Given the description of an element on the screen output the (x, y) to click on. 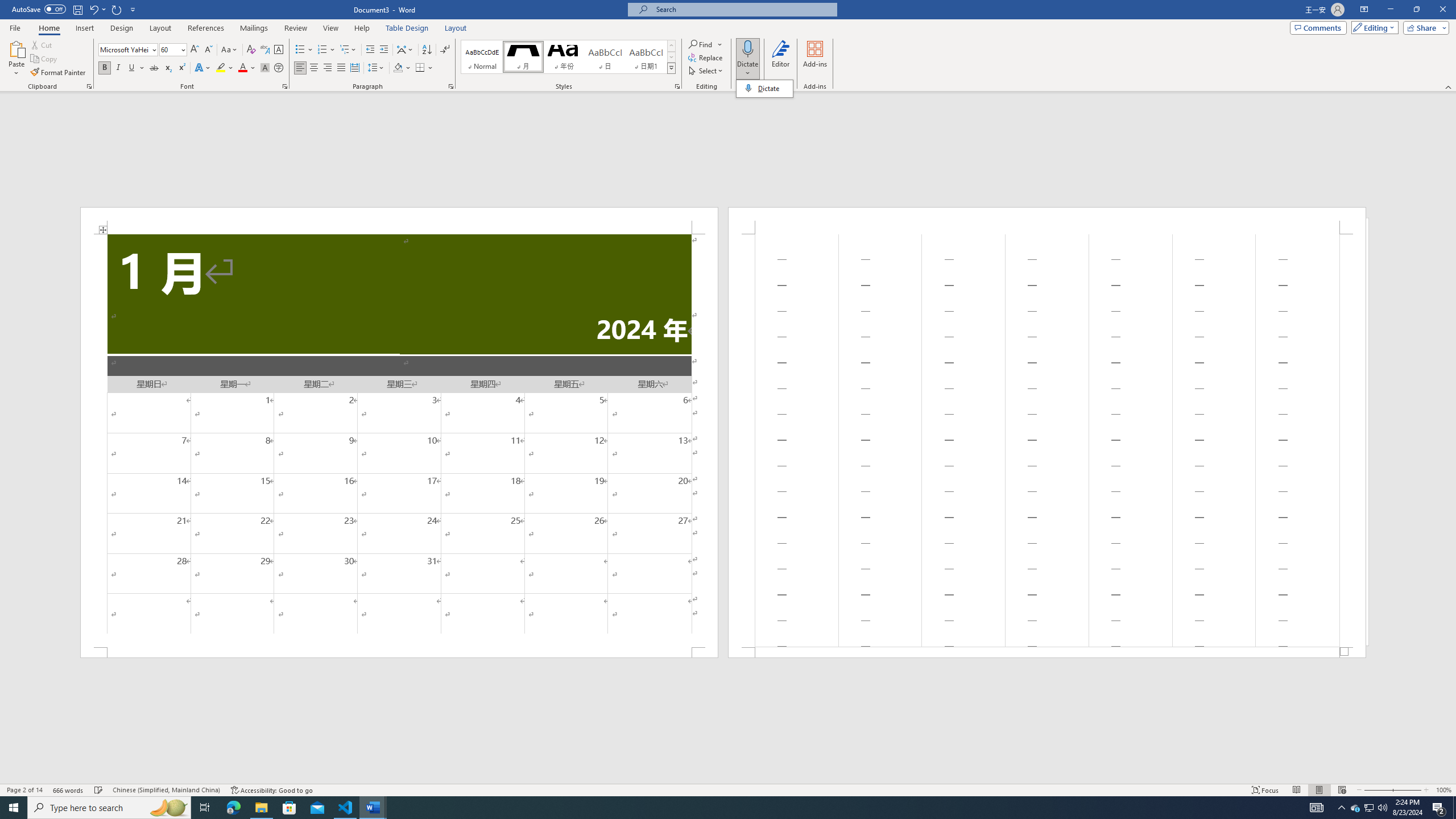
Font Size (169, 49)
Bullets (300, 49)
Decrease Indent (370, 49)
Notification Chevron (1341, 807)
File Tab (15, 27)
Office Clipboard... (88, 85)
Page Number Page 2 of 14 (24, 790)
AutoSave (38, 9)
Start (13, 807)
Enclose Characters... (278, 67)
More Options (747, 68)
Italic (118, 67)
Increase Indent (383, 49)
Layout (455, 28)
